Given the description of an element on the screen output the (x, y) to click on. 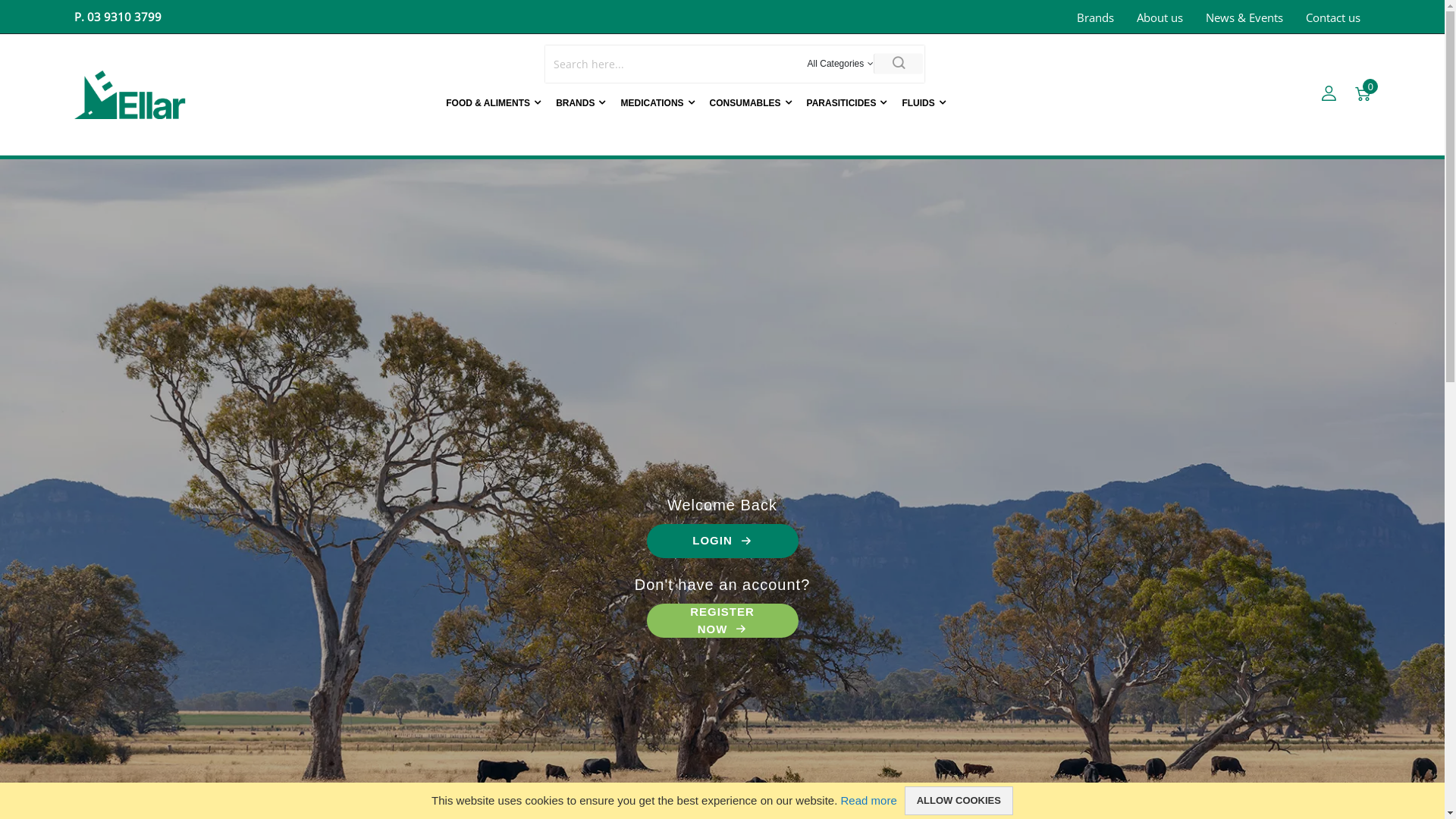
About us Element type: text (1159, 17)
LOGIN Element type: text (722, 539)
LOGIN Element type: text (721, 541)
REGISTER NOW Element type: text (721, 620)
Ellar Laboratories Element type: hover (149, 94)
Search Element type: hover (897, 63)
Brands Element type: text (1094, 17)
P. 03 9310 3799 Element type: text (117, 16)
Contact us Element type: text (1332, 17)
Read more Element type: text (868, 800)
Cart
Cart Element type: text (1362, 94)
REGISTER NOW Element type: text (722, 620)
FLUIDS Element type: text (923, 102)
News & Events Element type: text (1244, 17)
Ellar Laboratories Element type: hover (131, 94)
ALLOW COOKIES Element type: text (958, 800)
BRANDS Element type: text (580, 102)
CONSUMABLES Element type: text (750, 102)
FOOD & ALIMENTS Element type: text (493, 102)
MEDICATIONS Element type: text (656, 102)
PARASITICIDES Element type: text (846, 102)
